Given the description of an element on the screen output the (x, y) to click on. 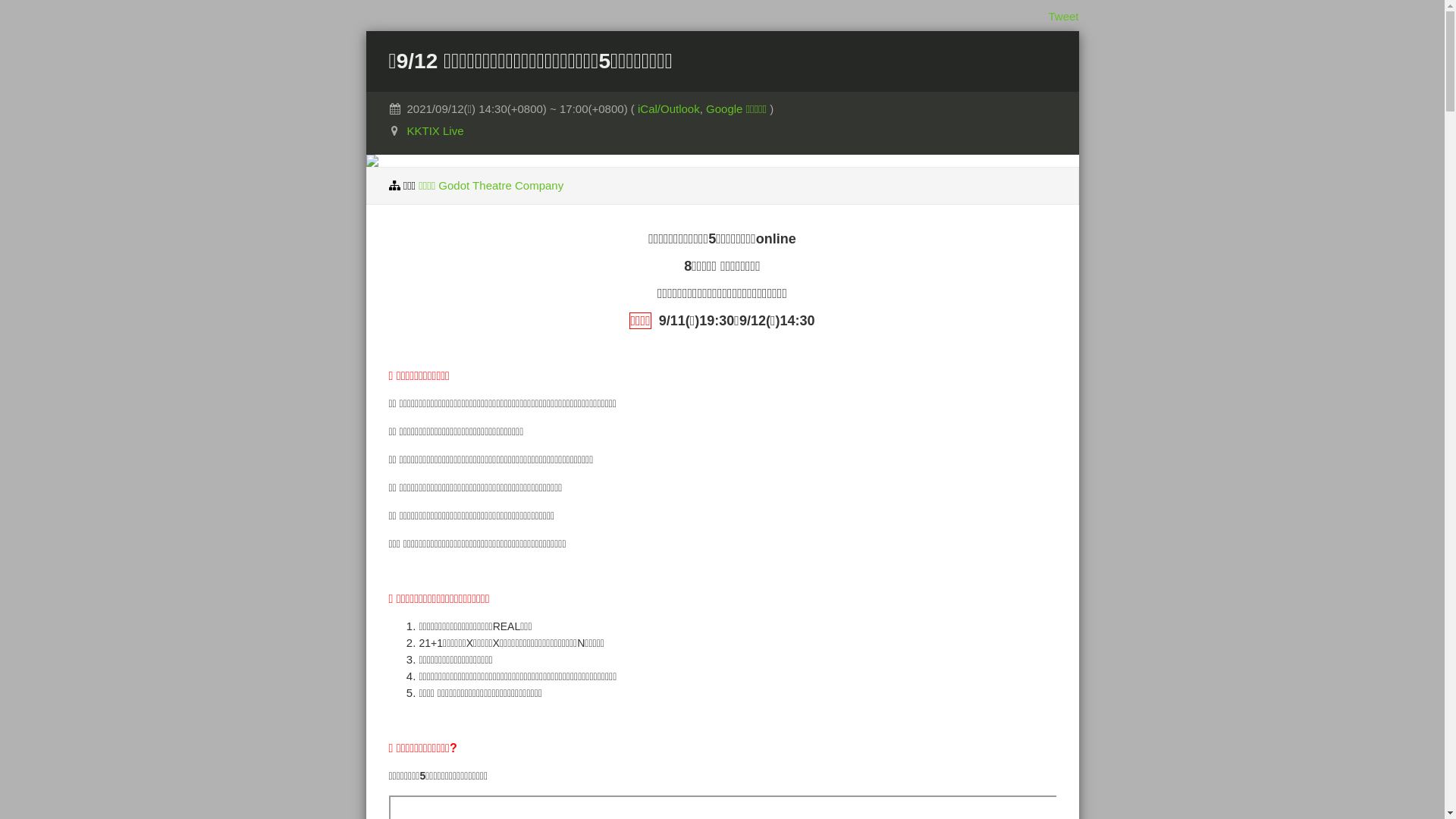
Tweet Element type: text (1063, 15)
KKTIX Live Element type: text (434, 130)
iCal/Outlook Element type: text (668, 108)
